Given the description of an element on the screen output the (x, y) to click on. 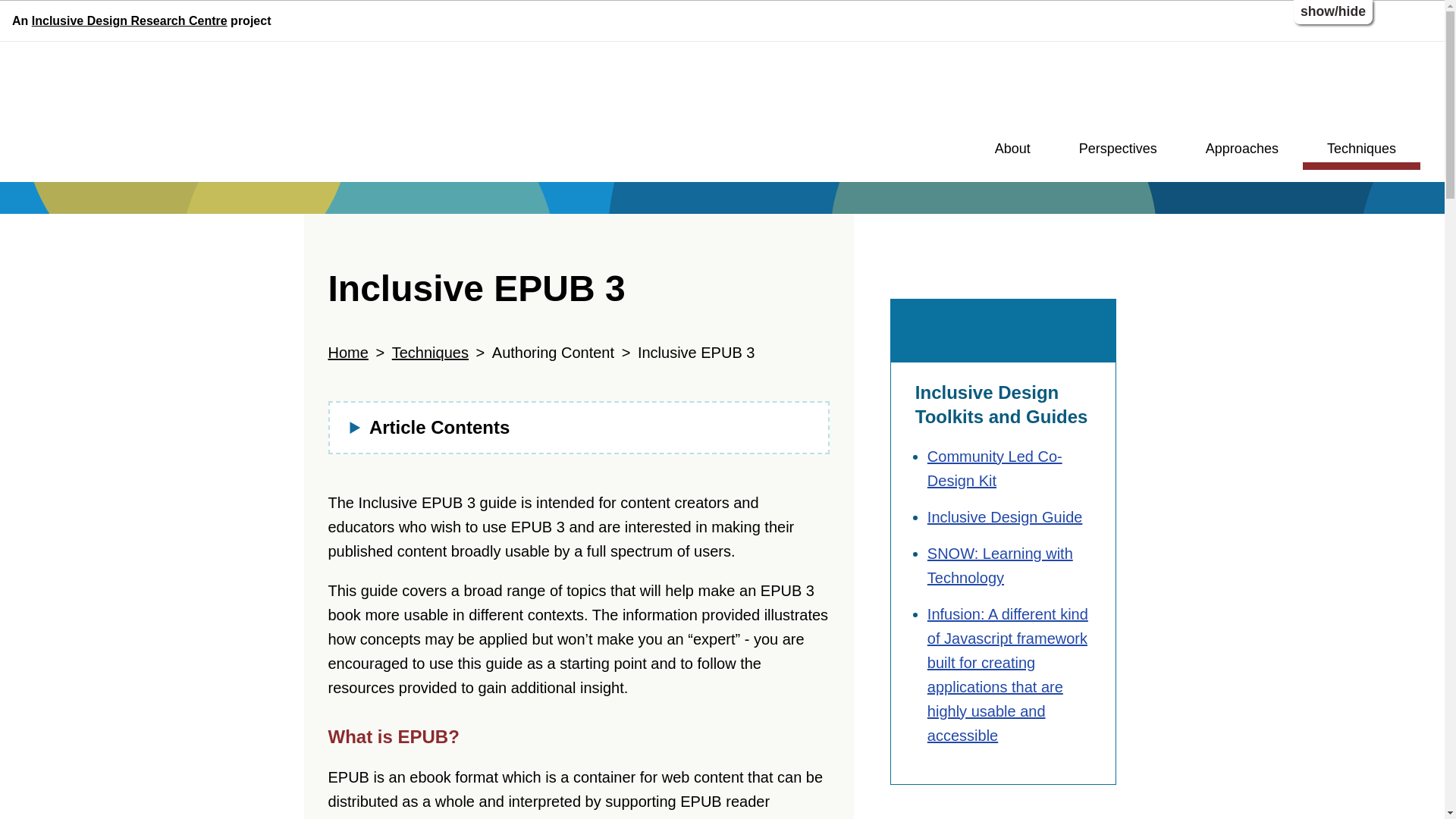
Inclusive Design Guide (1005, 516)
Approaches (1241, 152)
SNOW: Learning with Technology (1000, 565)
Inclusive Learning Design Handbook - Home (146, 113)
About (1012, 152)
Inclusive Design Research Centre (129, 20)
Techniques (429, 352)
Techniques (1362, 152)
Community Led Co-Design Kit (994, 467)
